Given the description of an element on the screen output the (x, y) to click on. 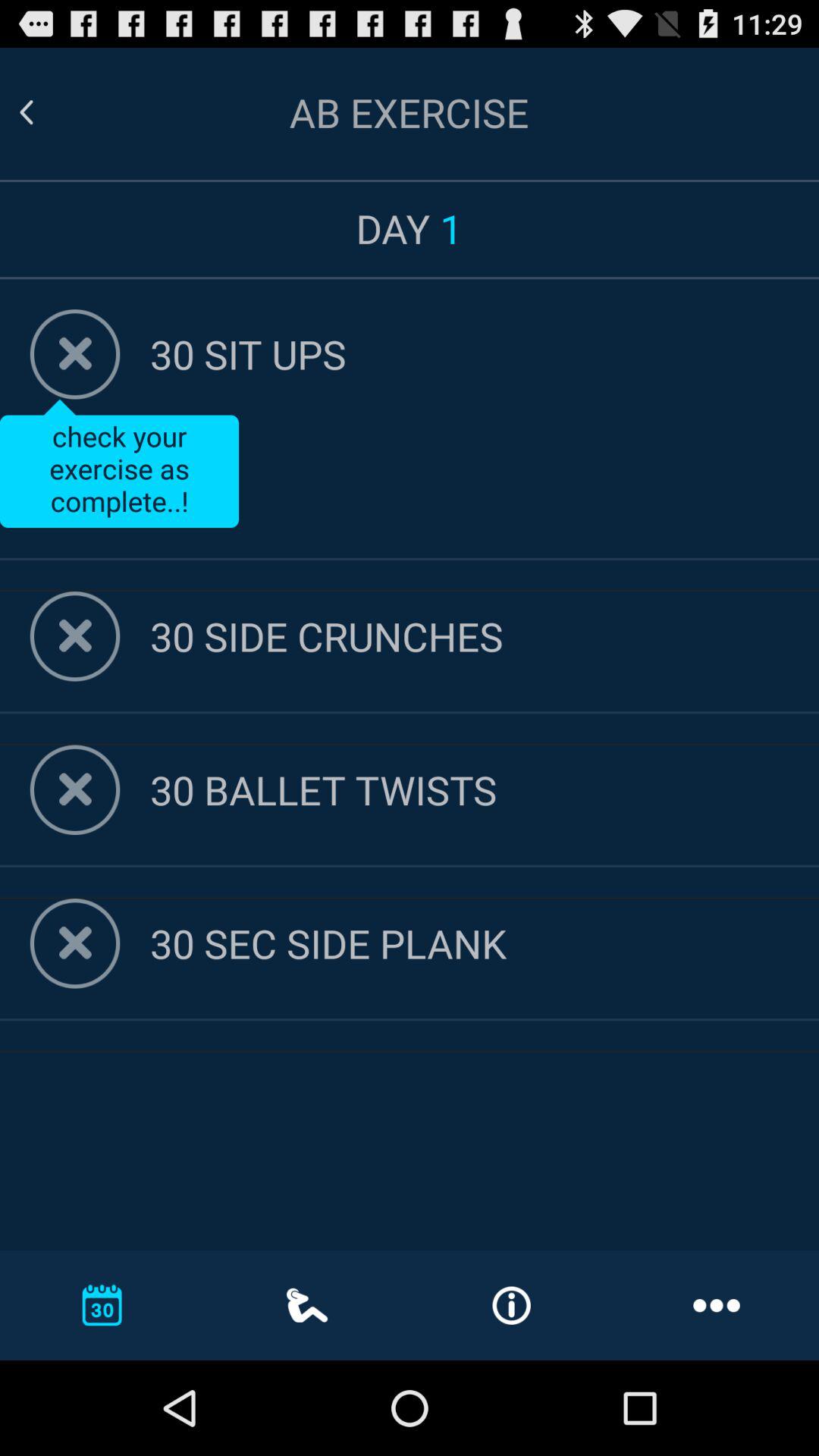
remove (75, 636)
